Given the description of an element on the screen output the (x, y) to click on. 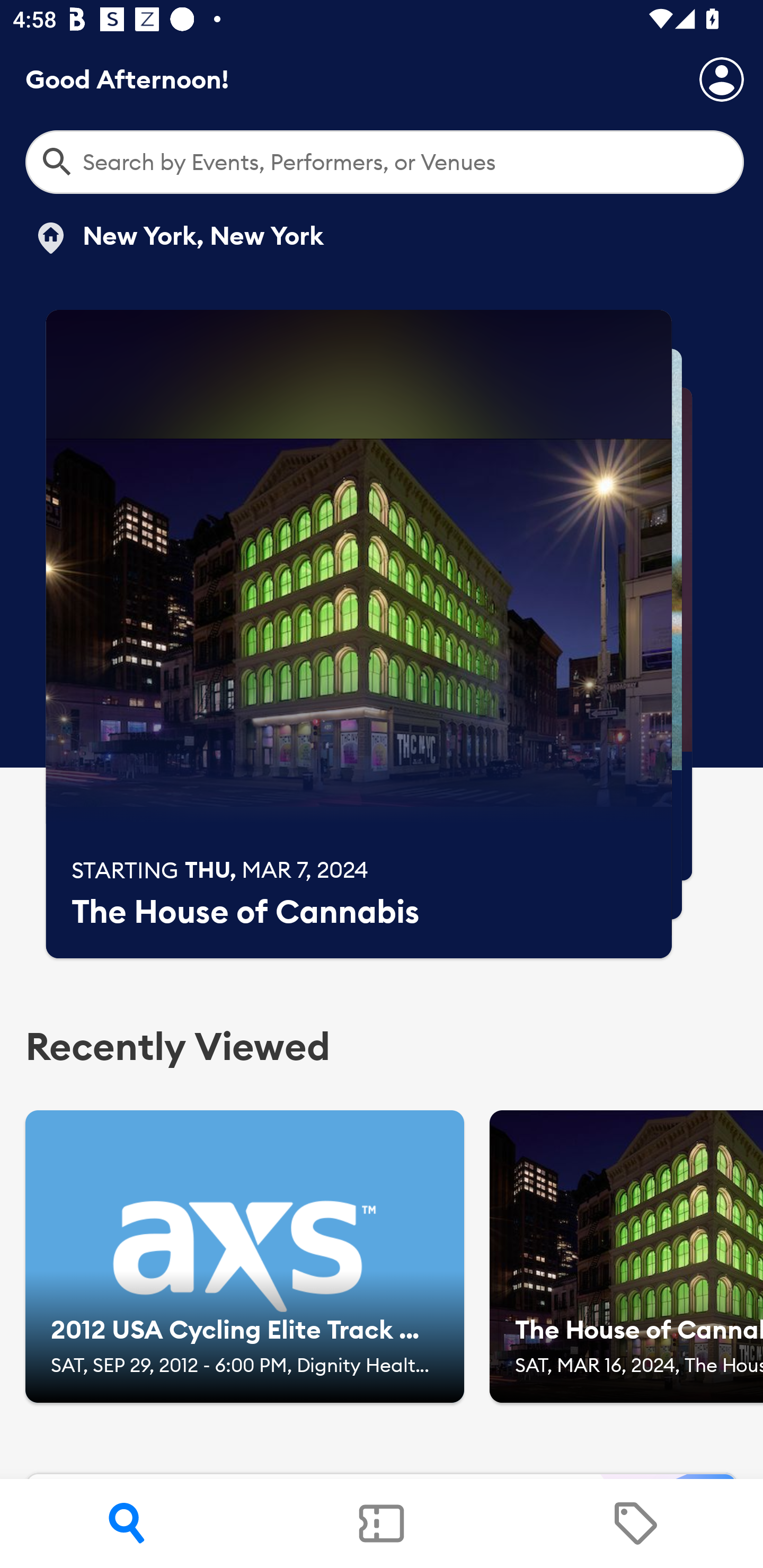
UserIcon (721, 78)
Search by Events, Performers, or Venues (384, 161)
New York, New York (177, 237)
STARTING THU, MAR 7, 2024 The House of Cannabis (358, 634)
Menu Item: Tickets (381, 1523)
Menu Item: Resale (635, 1523)
